Given the description of an element on the screen output the (x, y) to click on. 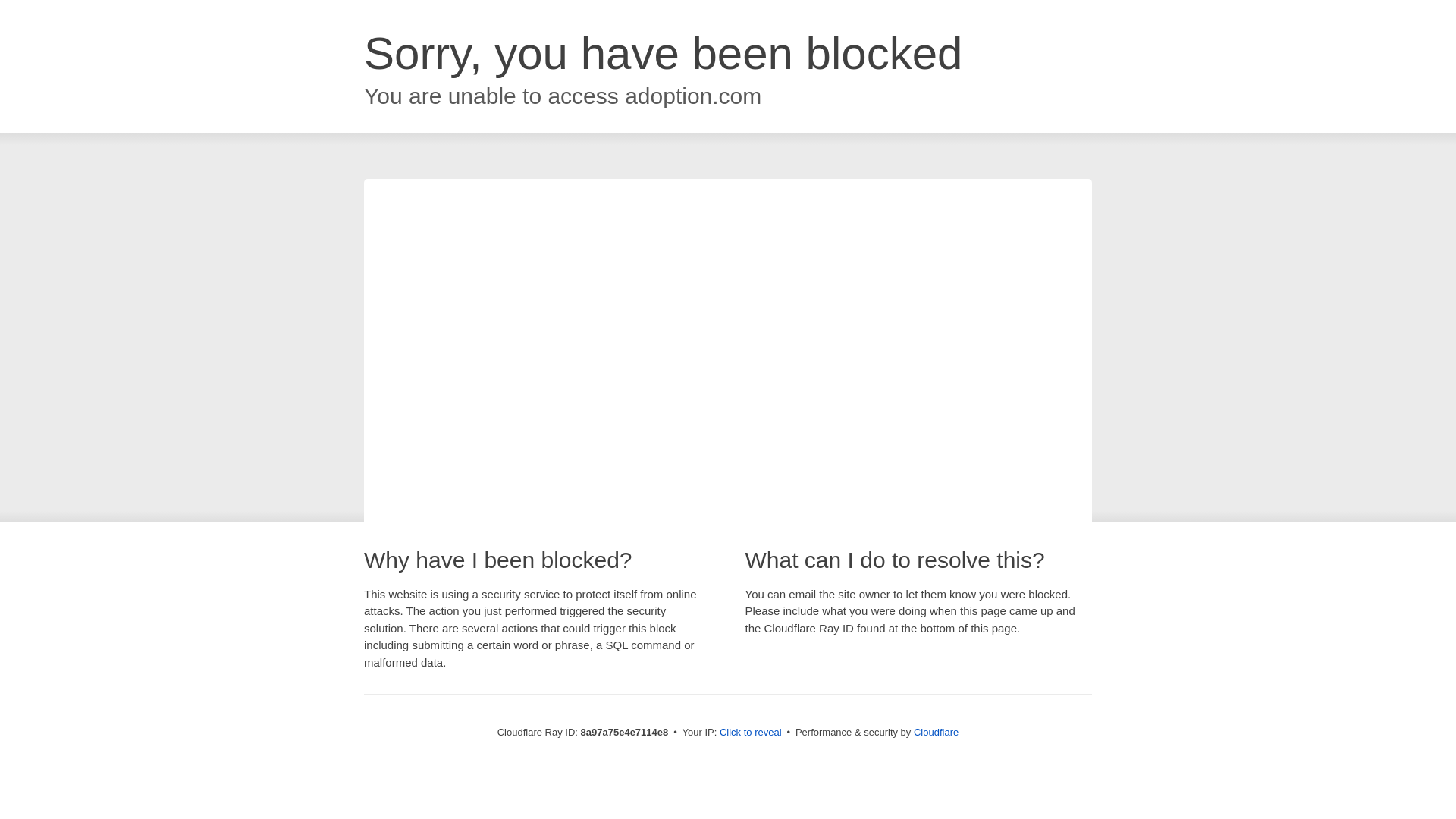
Cloudflare (936, 731)
Click to reveal (750, 732)
